Given the description of an element on the screen output the (x, y) to click on. 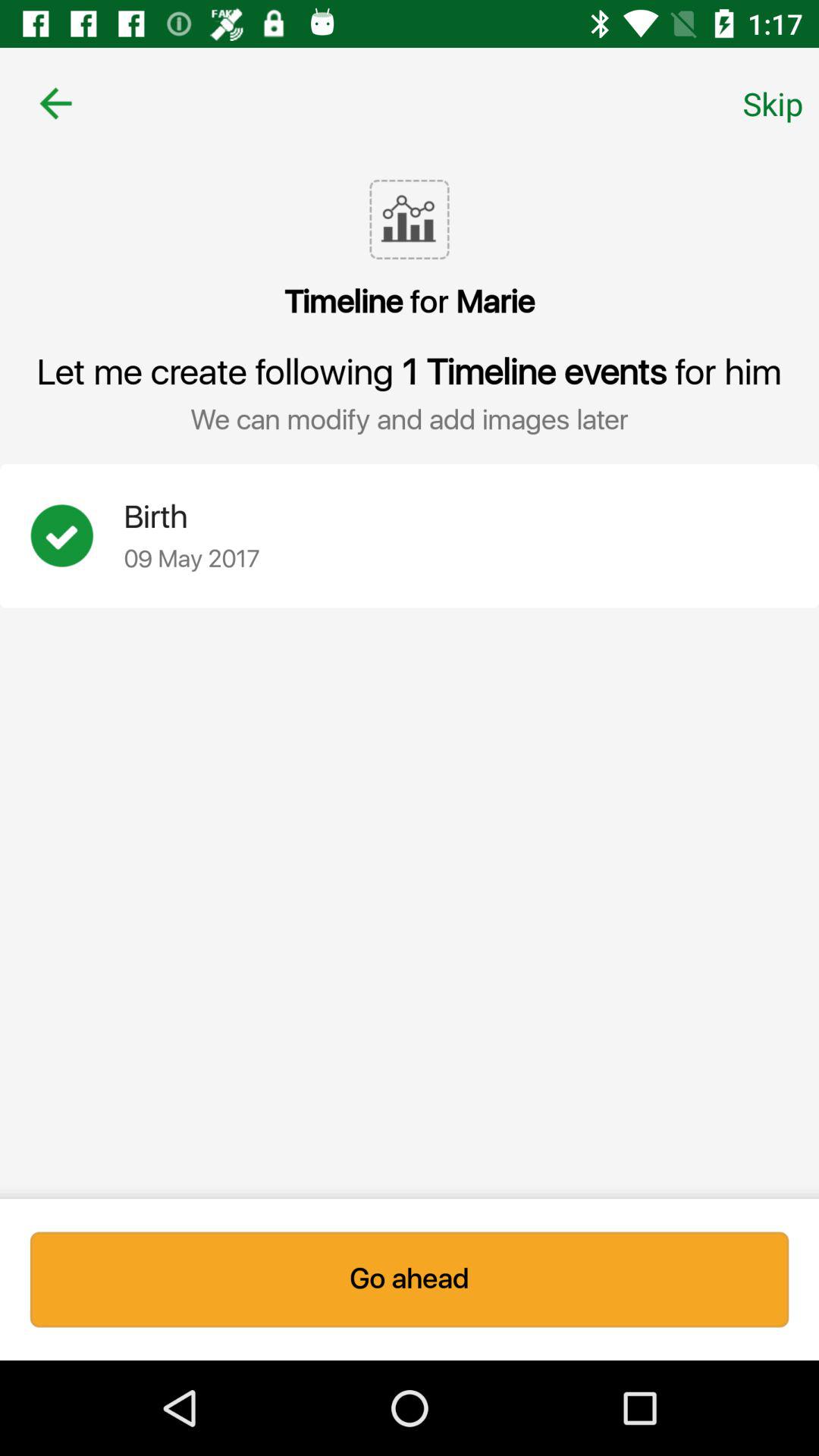
flip to the go ahead item (409, 1279)
